Given the description of an element on the screen output the (x, y) to click on. 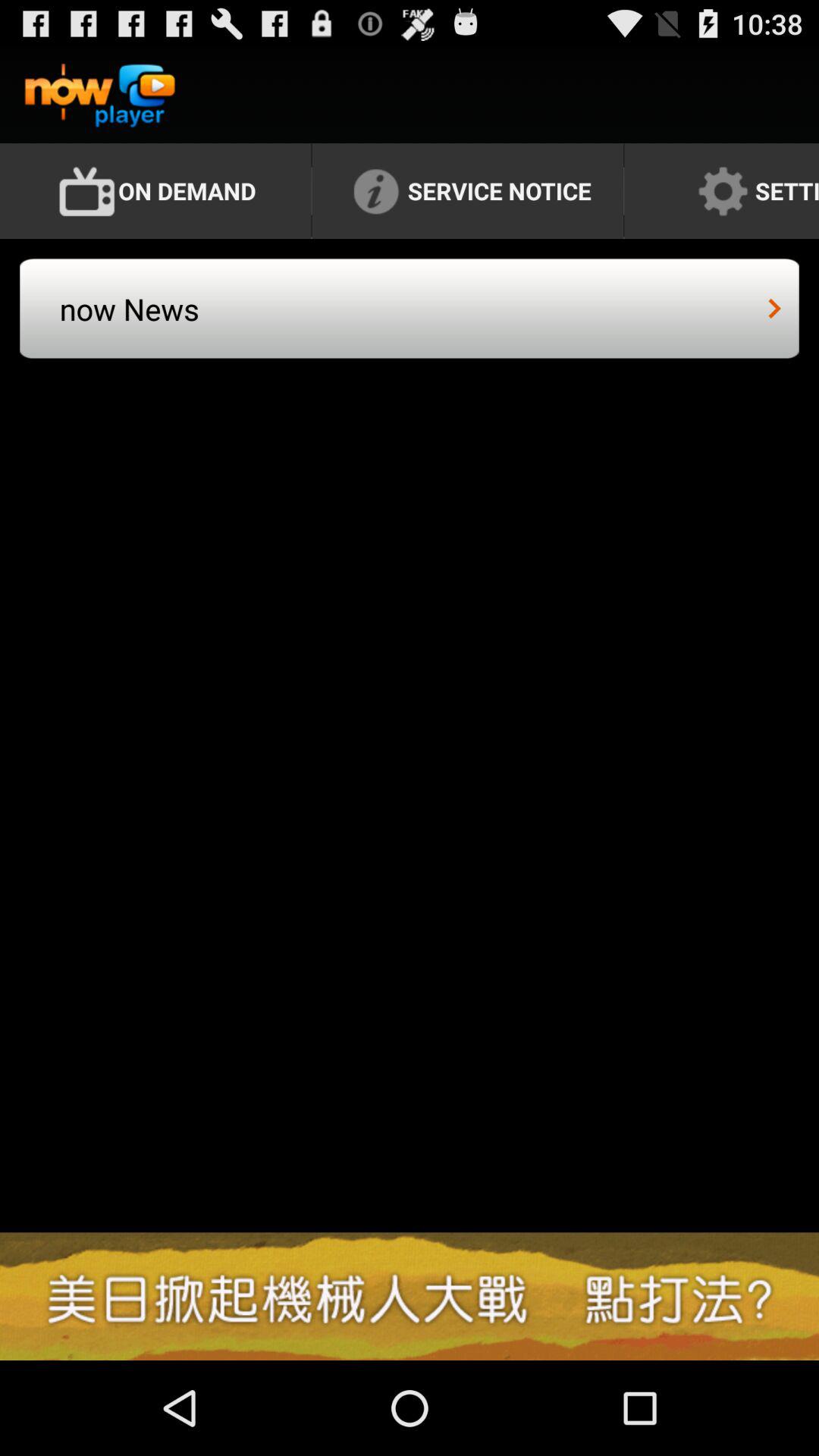
turn off now news icon (235, 323)
